Given the description of an element on the screen output the (x, y) to click on. 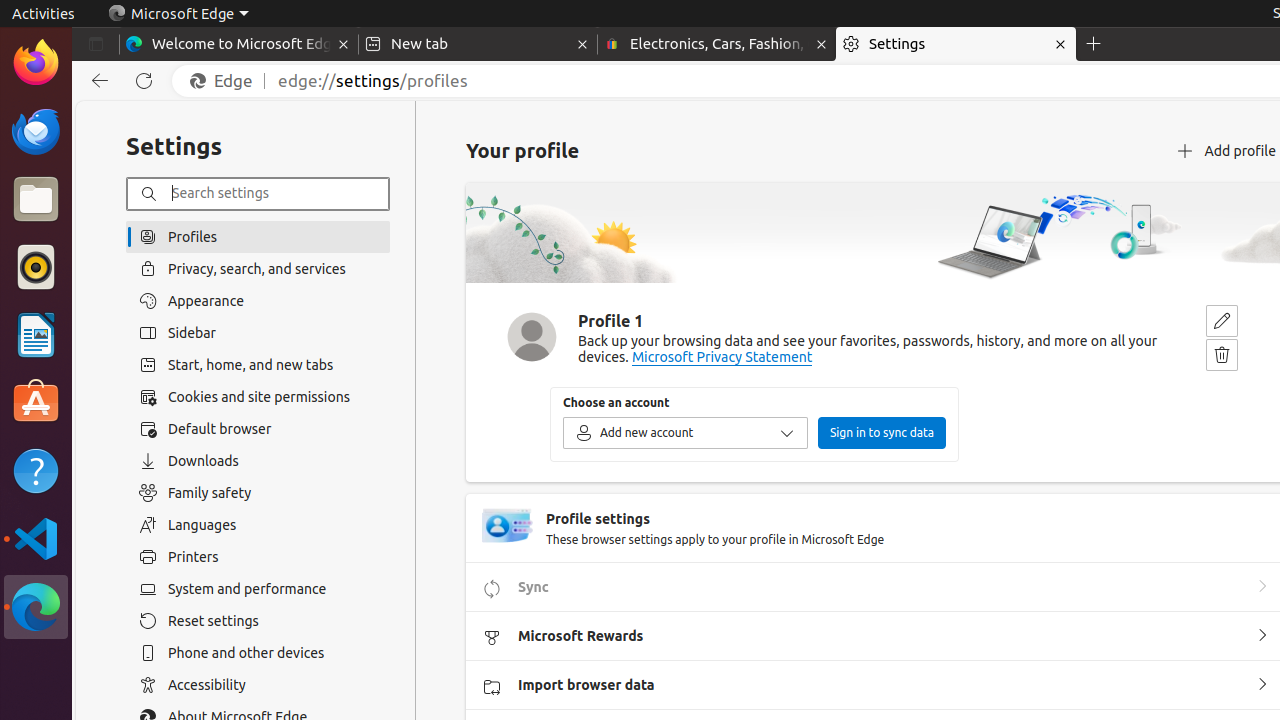
Reset settings Element type: tree-item (258, 621)
Back Element type: push-button (96, 81)
Tab actions menu Element type: push-button (96, 44)
System and performance Element type: tree-item (258, 589)
New Tab Element type: push-button (1094, 44)
